Given the description of an element on the screen output the (x, y) to click on. 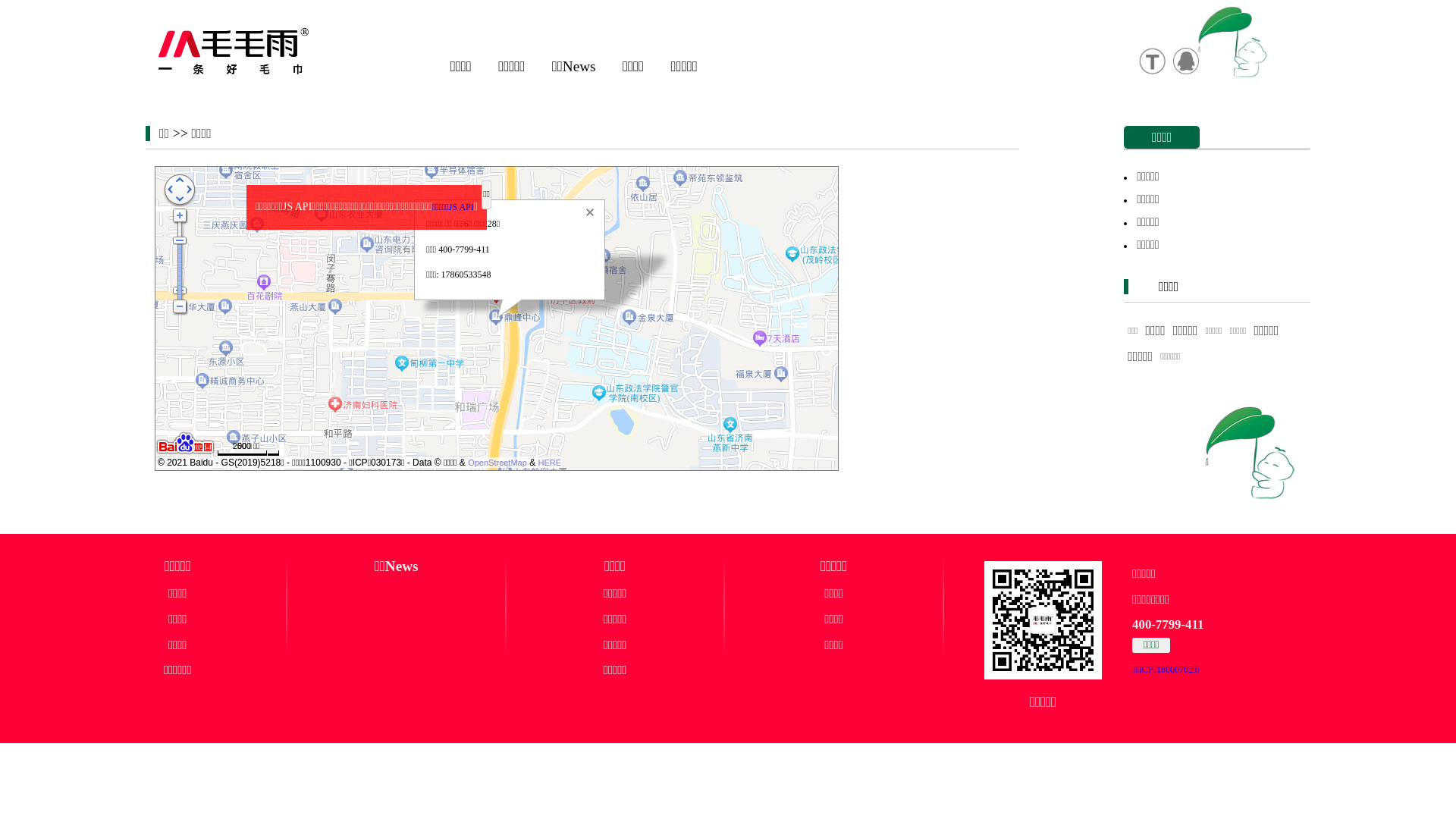
OpenStreetMap Element type: text (497, 462)
HERE Element type: text (549, 462)
